Given the description of an element on the screen output the (x, y) to click on. 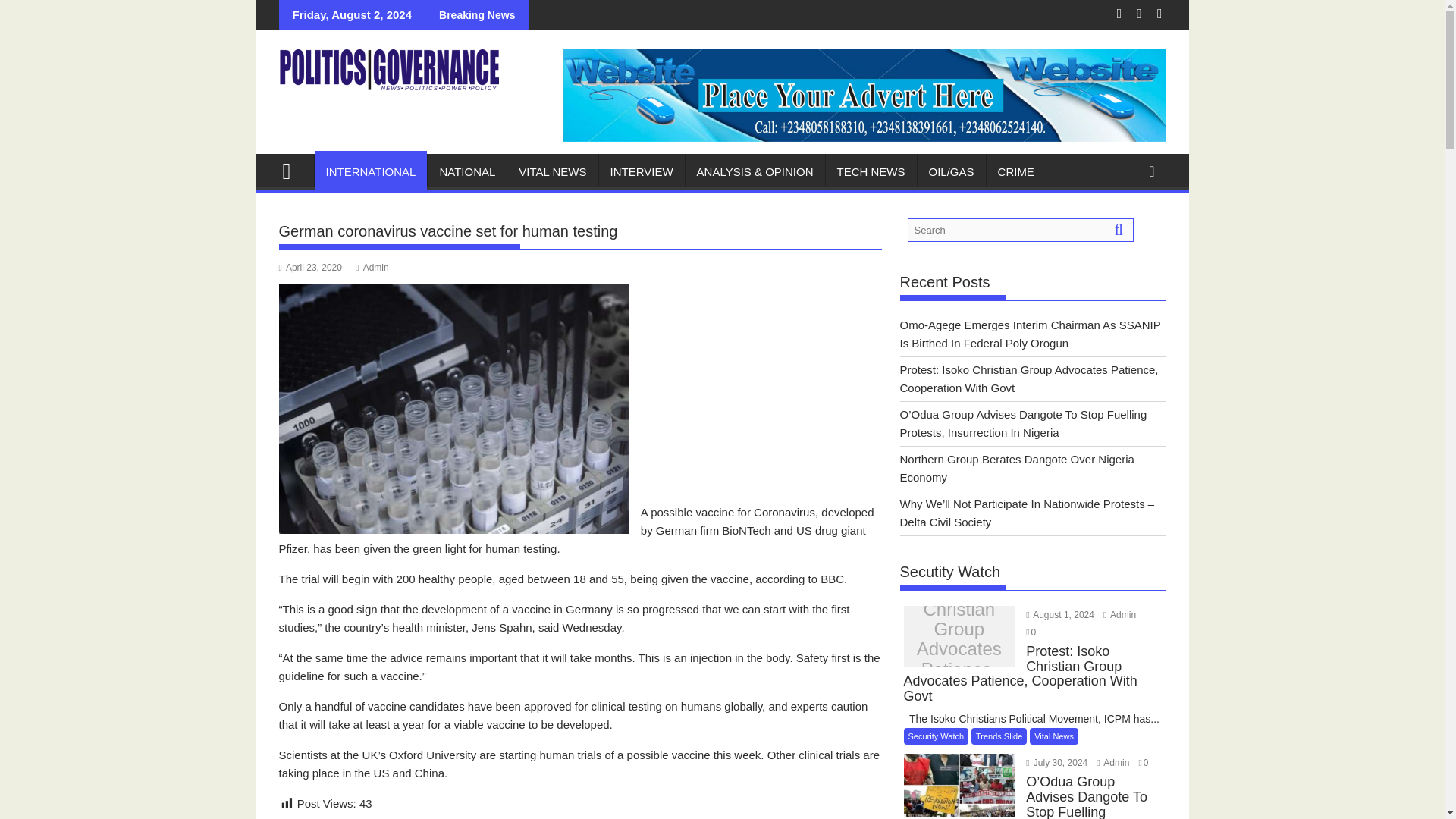
April 23, 2020 (310, 267)
VITAL NEWS (551, 171)
INTERVIEW (641, 171)
NATIONAL (467, 171)
Advertisement (580, 644)
TECH NEWS (871, 171)
INTERNATIONAL (370, 171)
Politics Governance (293, 169)
CRIME (1016, 171)
Admin (371, 267)
